Given the description of an element on the screen output the (x, y) to click on. 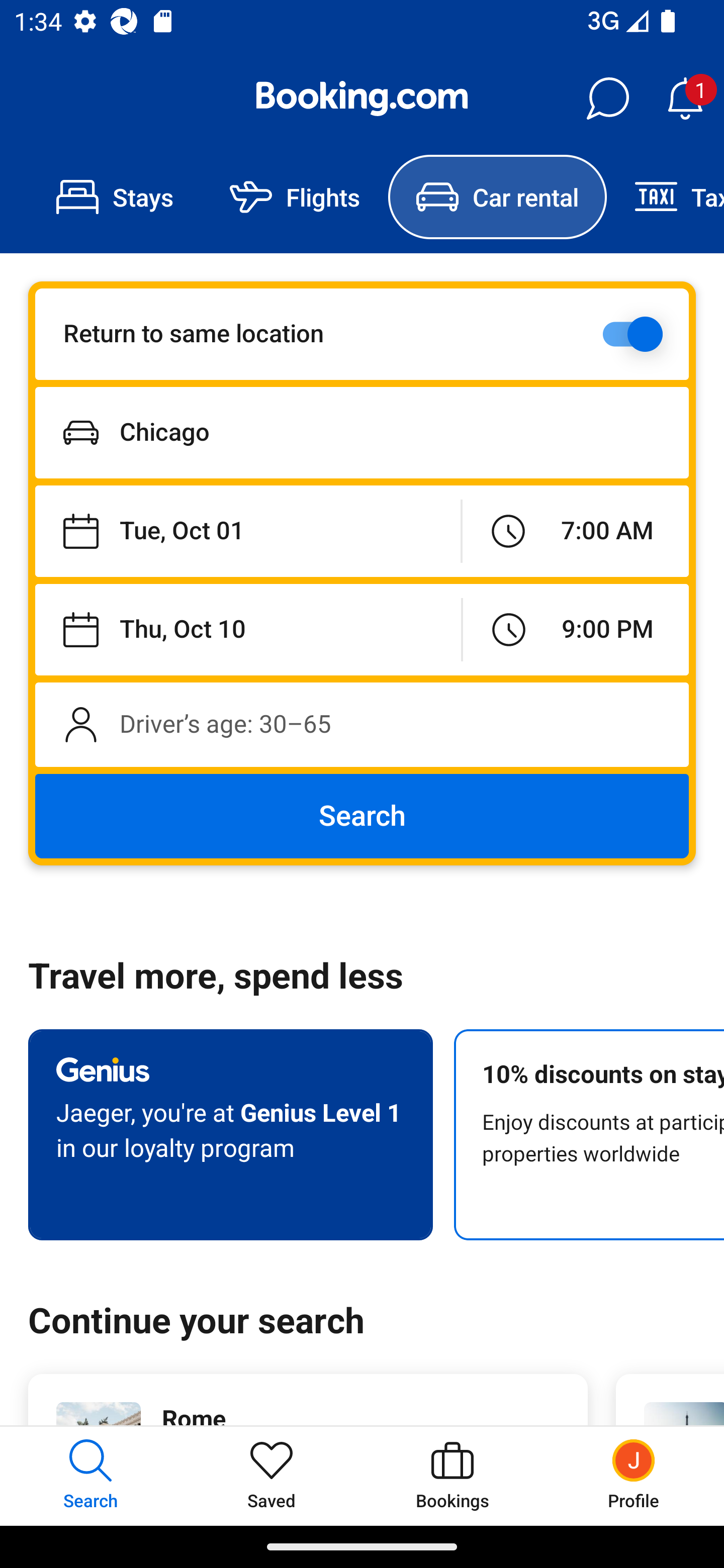
Messages (607, 98)
Notifications (685, 98)
Stays (114, 197)
Flights (294, 197)
Car rental (497, 197)
Taxi (665, 197)
Pick-up location: Text(name=Chicago) (361, 432)
Pick-up date: 2024-10-01 (247, 531)
Pick-up time: 07:00:00.000 (575, 531)
Drop-off date: 2024-10-10 (248, 629)
Drop-off time: 21:00:00.000 (575, 629)
Enter the driver's age (361, 724)
Search (361, 815)
Saved (271, 1475)
Bookings (452, 1475)
Profile (633, 1475)
